Given the description of an element on the screen output the (x, y) to click on. 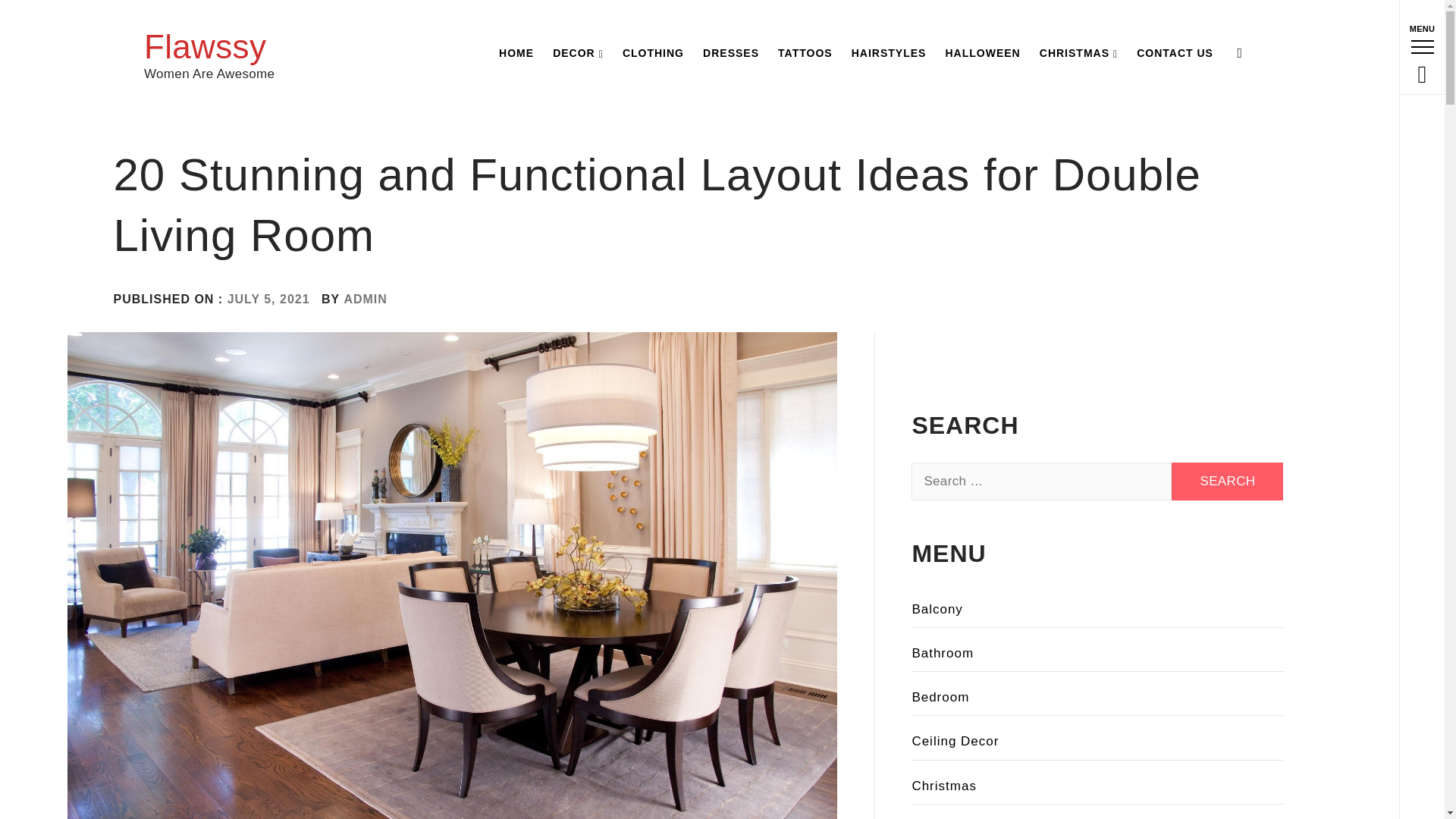
Search (646, 37)
HALLOWEEN (982, 53)
Flawssy (205, 46)
TATTOOS (805, 53)
Search (1227, 481)
DRESSES (731, 53)
CLOTHING (652, 53)
JULY 5, 2021 (268, 298)
DECOR (577, 53)
HAIRSTYLES (889, 53)
CHRISTMAS (1078, 53)
HOME (516, 53)
Search (1227, 481)
CONTACT US (1175, 53)
